Given the description of an element on the screen output the (x, y) to click on. 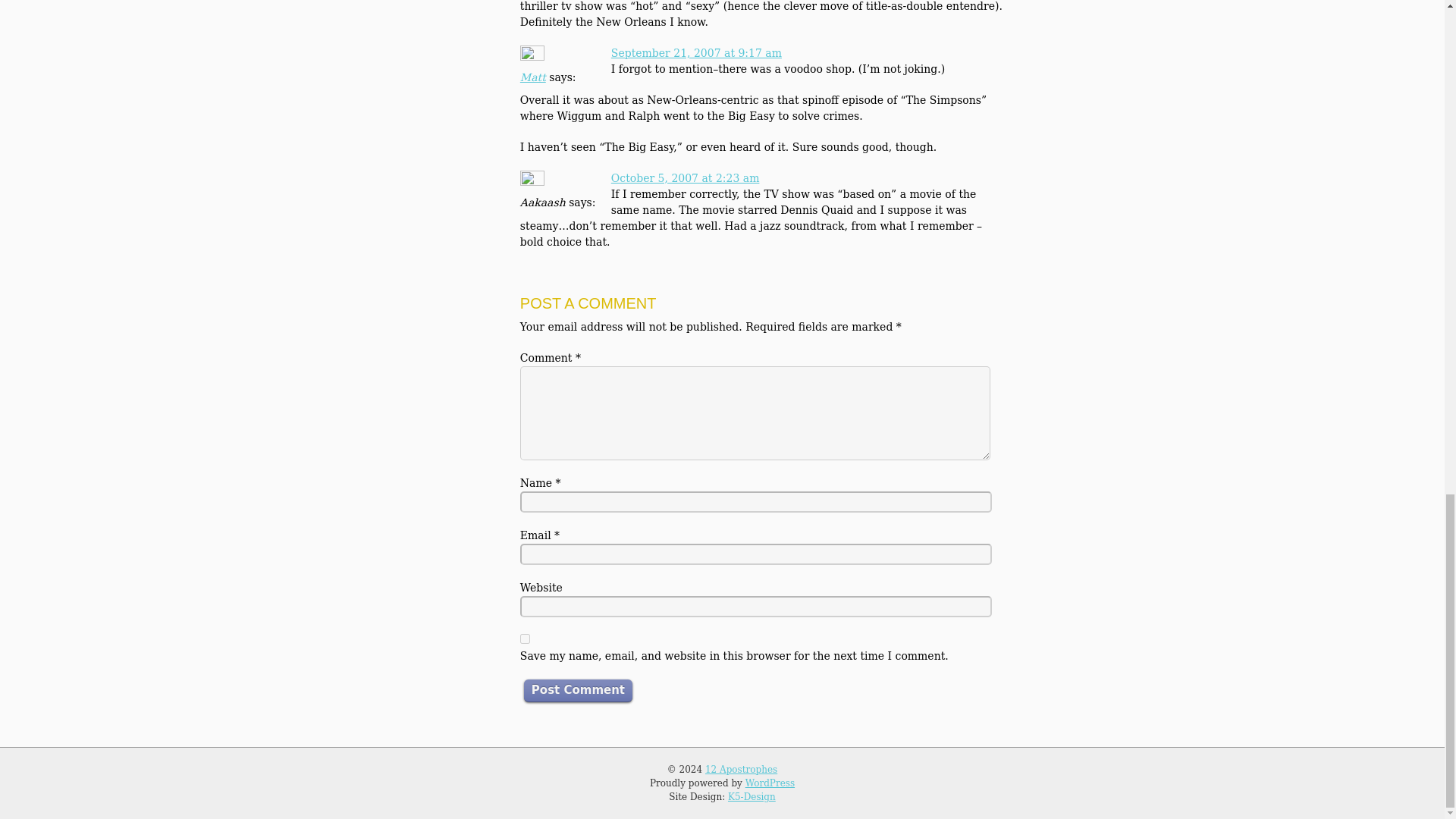
12 Apostrophes (740, 769)
yes (524, 638)
Semantic Personal Publishing Platform (769, 783)
K5-Design (752, 796)
K5-Design (752, 796)
October 5, 2007 at 2:23 am (685, 177)
Post Comment (577, 690)
12 Apostrophes (740, 769)
WordPress (769, 783)
September 21, 2007 at 9:17 am (696, 52)
Post Comment (577, 690)
Matt (532, 77)
